Given the description of an element on the screen output the (x, y) to click on. 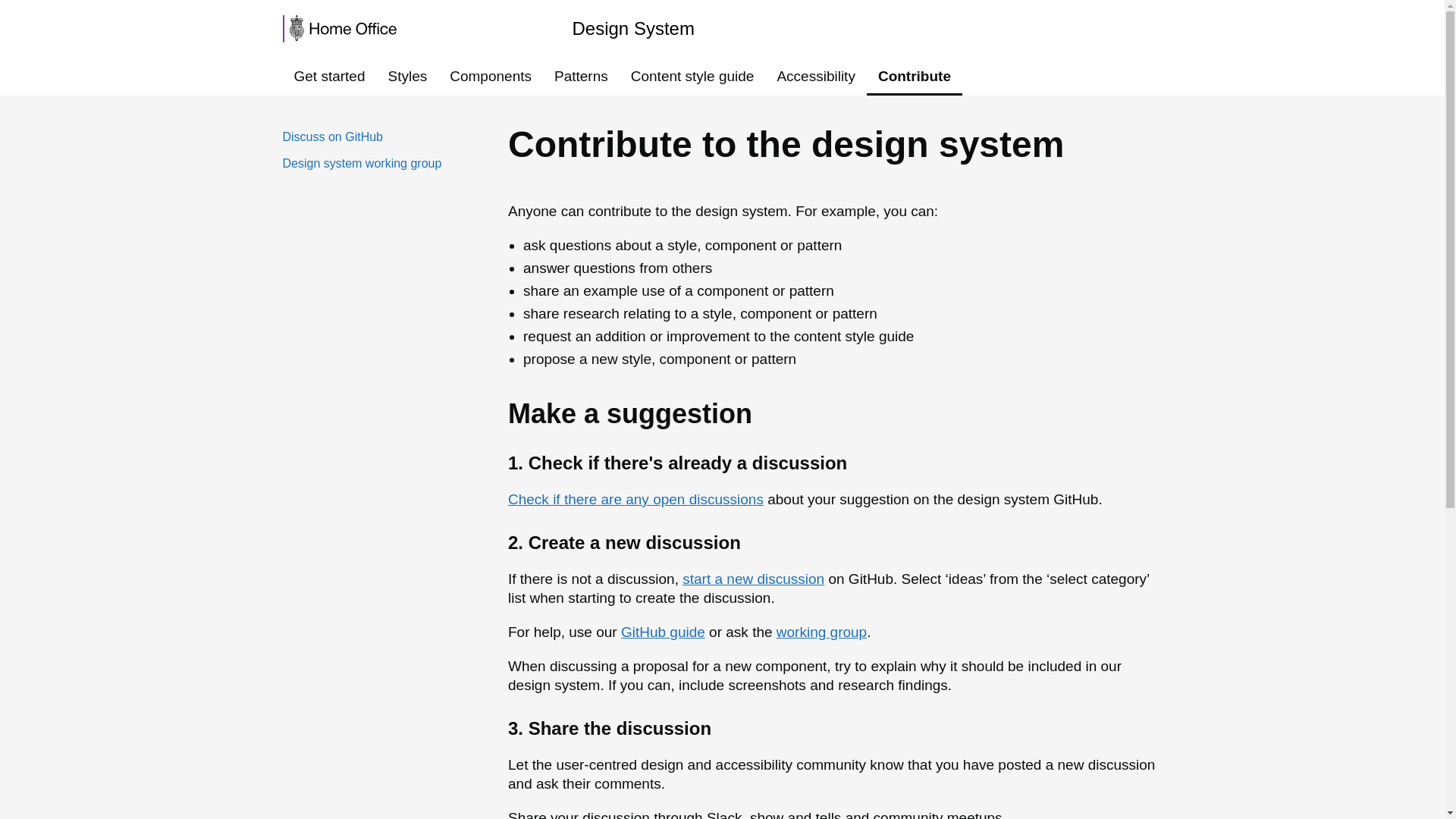
start a new discussion (753, 578)
Design system working group (361, 163)
Patterns (581, 75)
Components (490, 75)
Get started (328, 75)
Accessibility (815, 75)
Skip to main content (11, 7)
GitHub guide (662, 631)
Contribute (914, 75)
working group (821, 631)
